Given the description of an element on the screen output the (x, y) to click on. 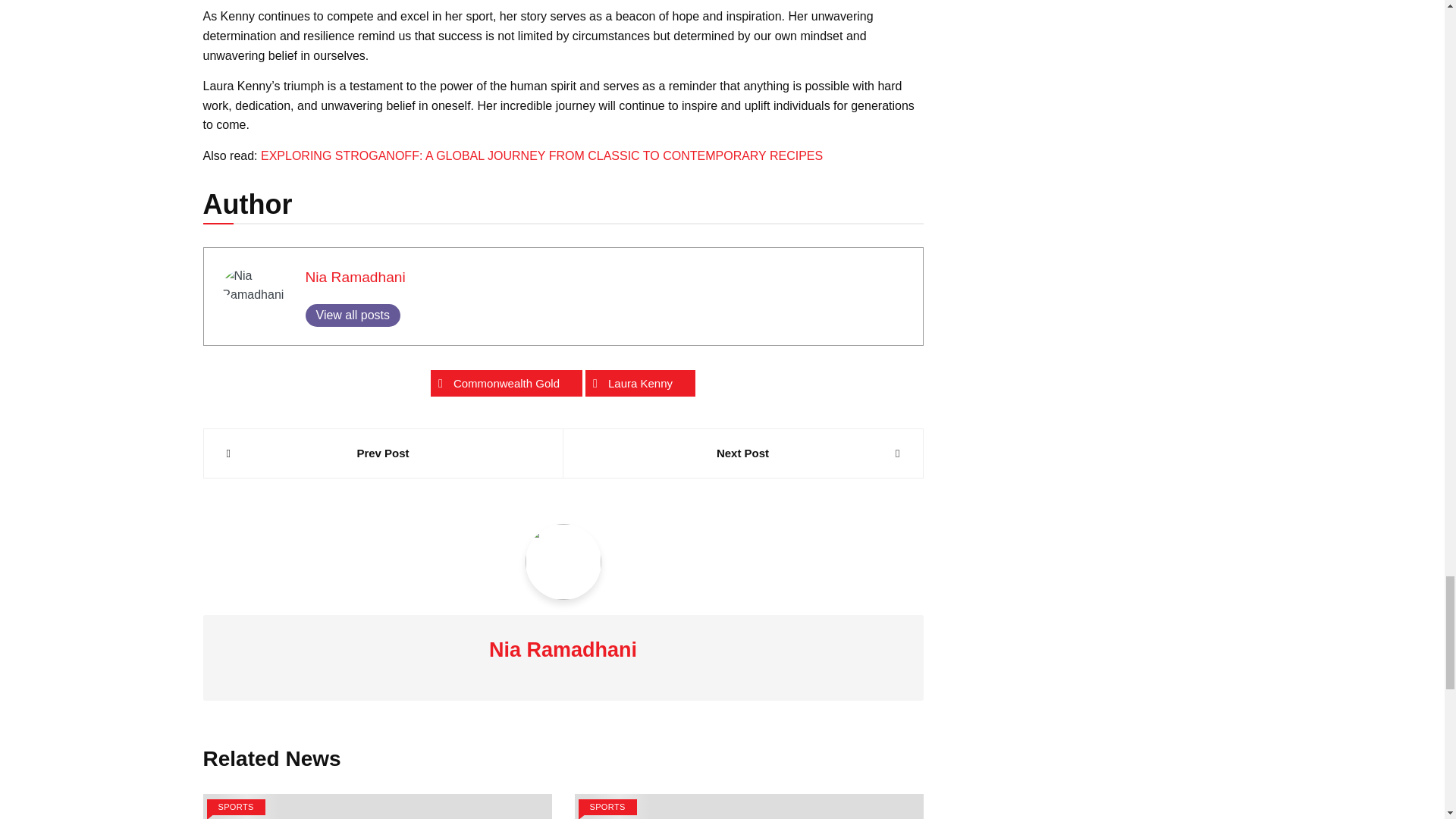
Prev Post (381, 453)
View all posts (352, 314)
Laura Kenny (640, 383)
Next Post (742, 453)
Commonwealth Gold (506, 383)
Nia Ramadhani (354, 277)
SPORTS (235, 806)
View all posts (352, 314)
Nia Ramadhani (354, 277)
SPORTS (607, 806)
